Given the description of an element on the screen output the (x, y) to click on. 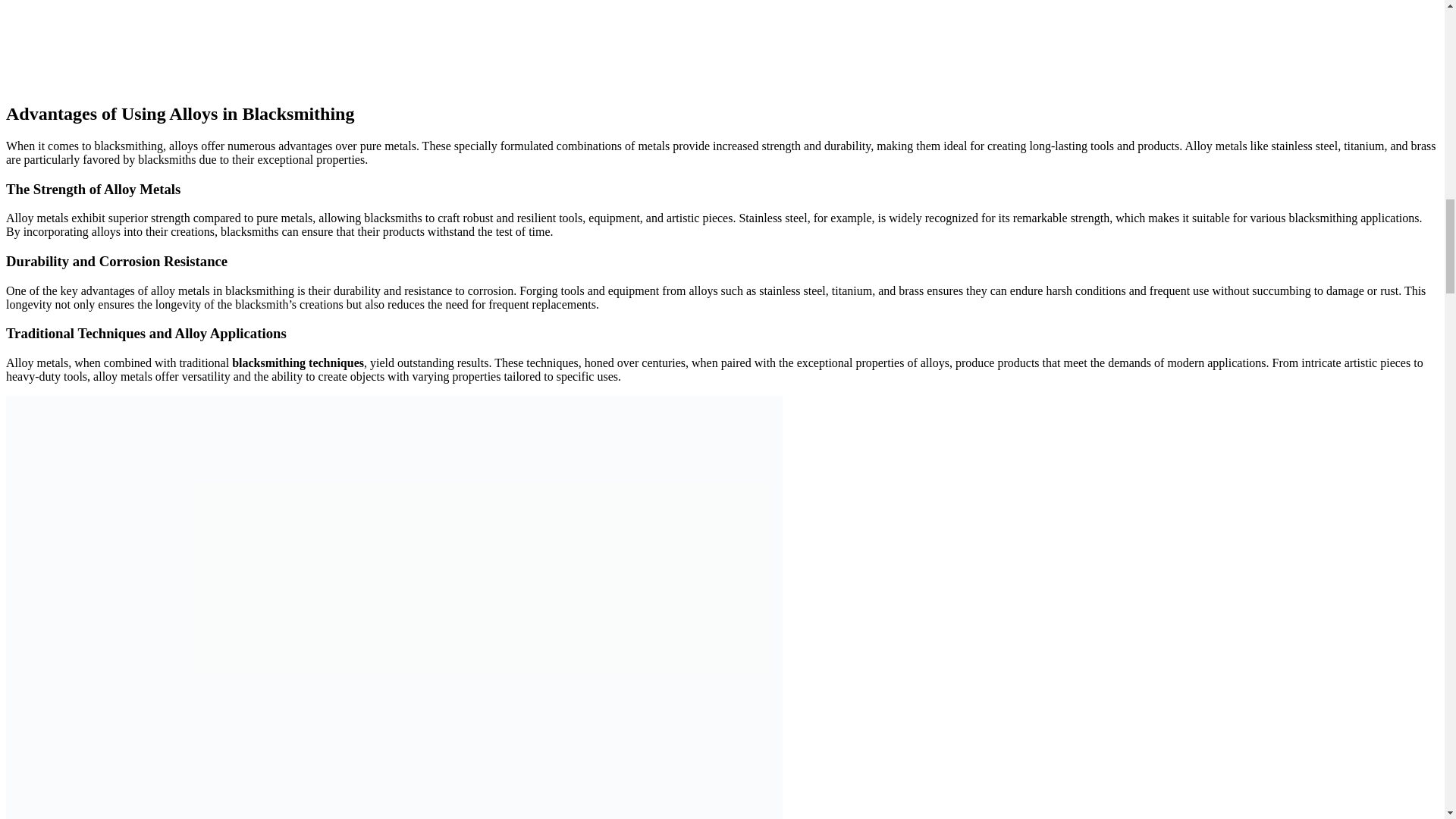
YouTube video player (118, 42)
